Given the description of an element on the screen output the (x, y) to click on. 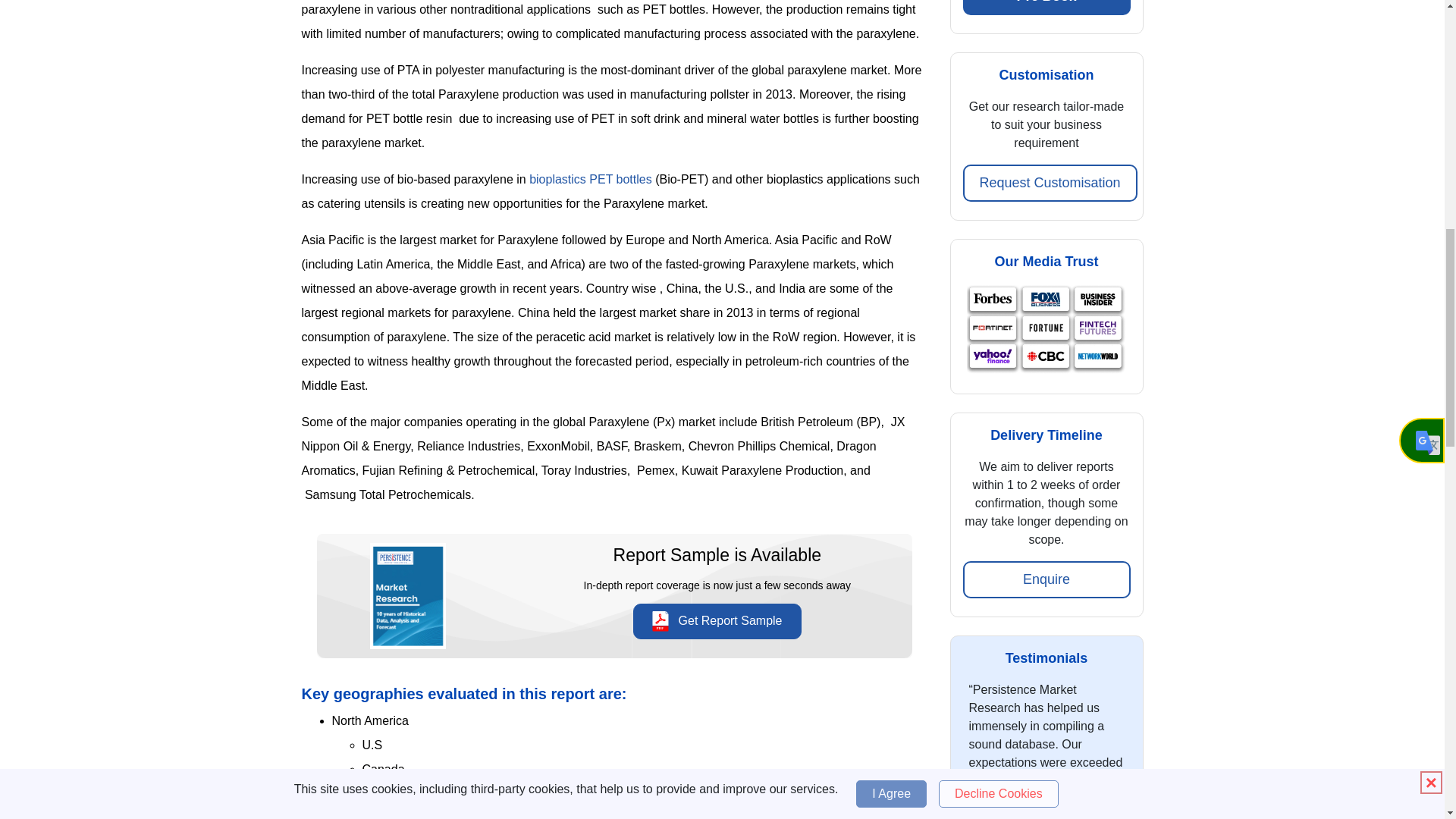
Pre Book (1046, 7)
Enquire (1046, 579)
Request Customisation (1049, 182)
Get Report Sample (716, 621)
bioplastics PET bottles (592, 178)
